Given the description of an element on the screen output the (x, y) to click on. 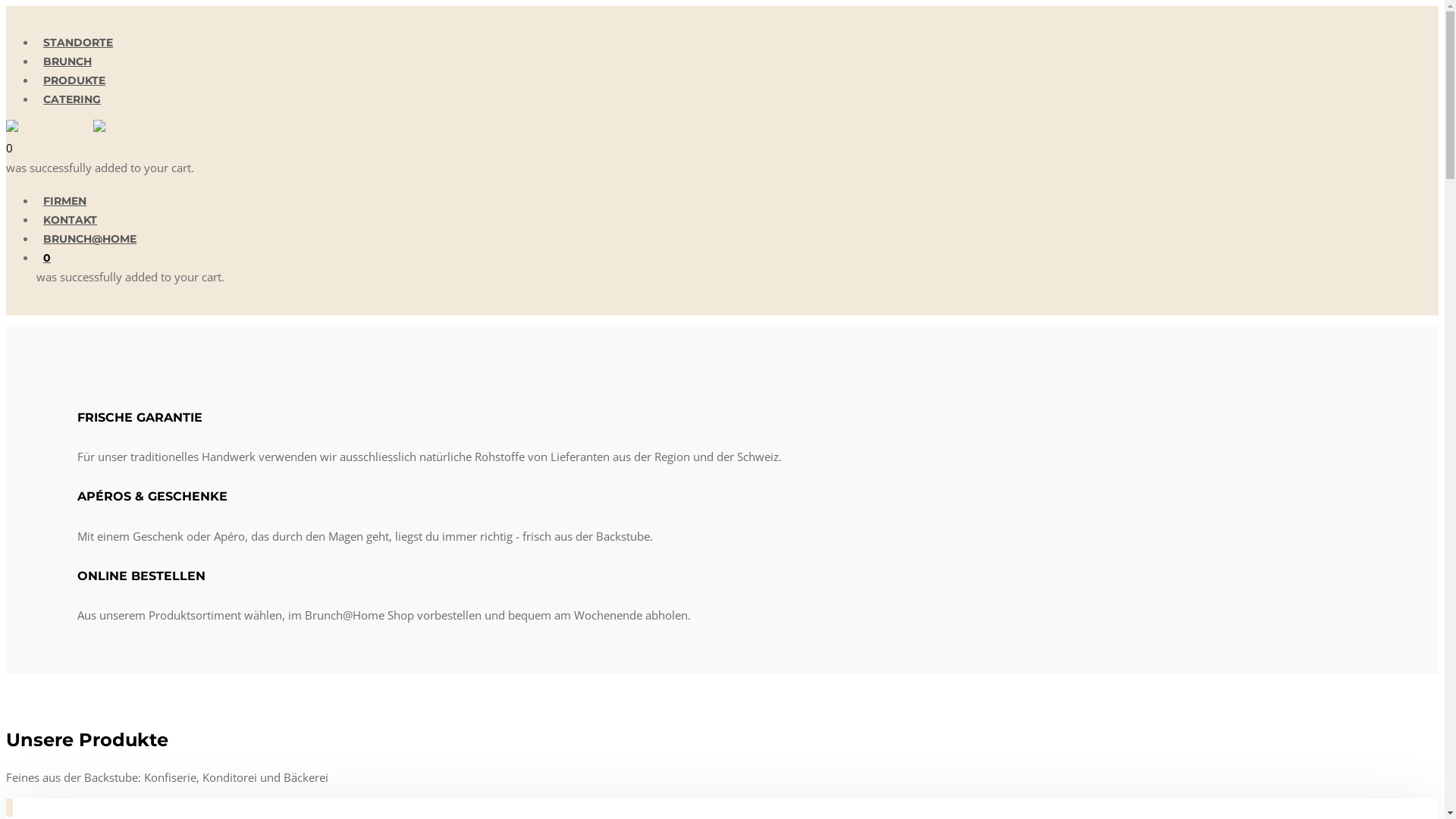
STANDORTE Element type: text (77, 42)
BRUNCH Element type: text (67, 61)
0 Element type: text (46, 257)
BRUNCH@HOME Element type: text (89, 238)
Semmeli Element type: hover (9, 807)
0 Element type: text (9, 147)
FIRMEN Element type: text (64, 200)
PRODUKTE Element type: text (74, 80)
KONTAKT Element type: text (69, 219)
CATERING Element type: text (71, 99)
